Given the description of an element on the screen output the (x, y) to click on. 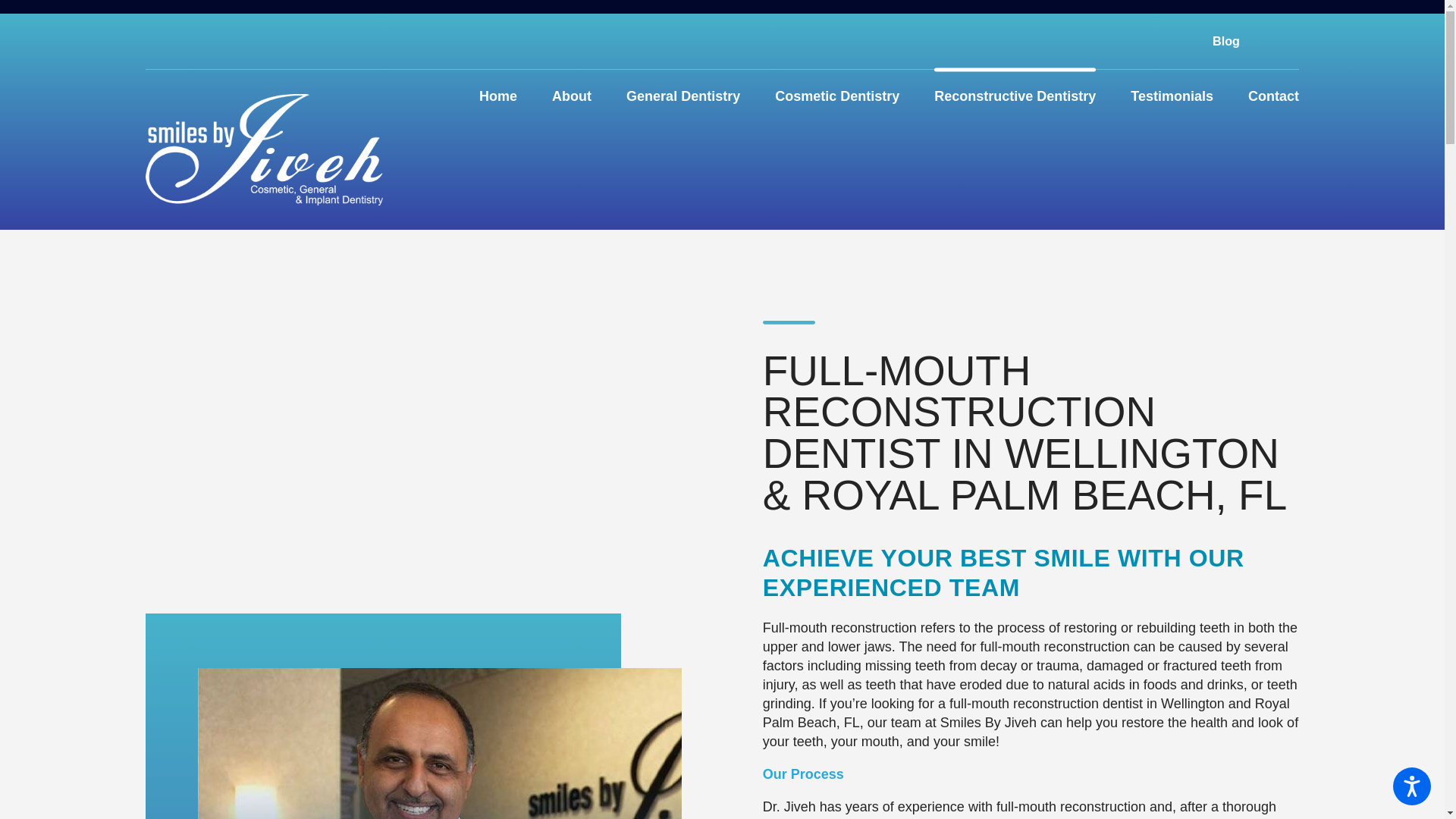
Cosmetic Dentistry (837, 96)
Open the accessibility options menu (1412, 786)
Blog (1226, 40)
General Dentistry (682, 96)
Smiles by Jiveh (263, 149)
About (571, 96)
Home (497, 96)
